Given the description of an element on the screen output the (x, y) to click on. 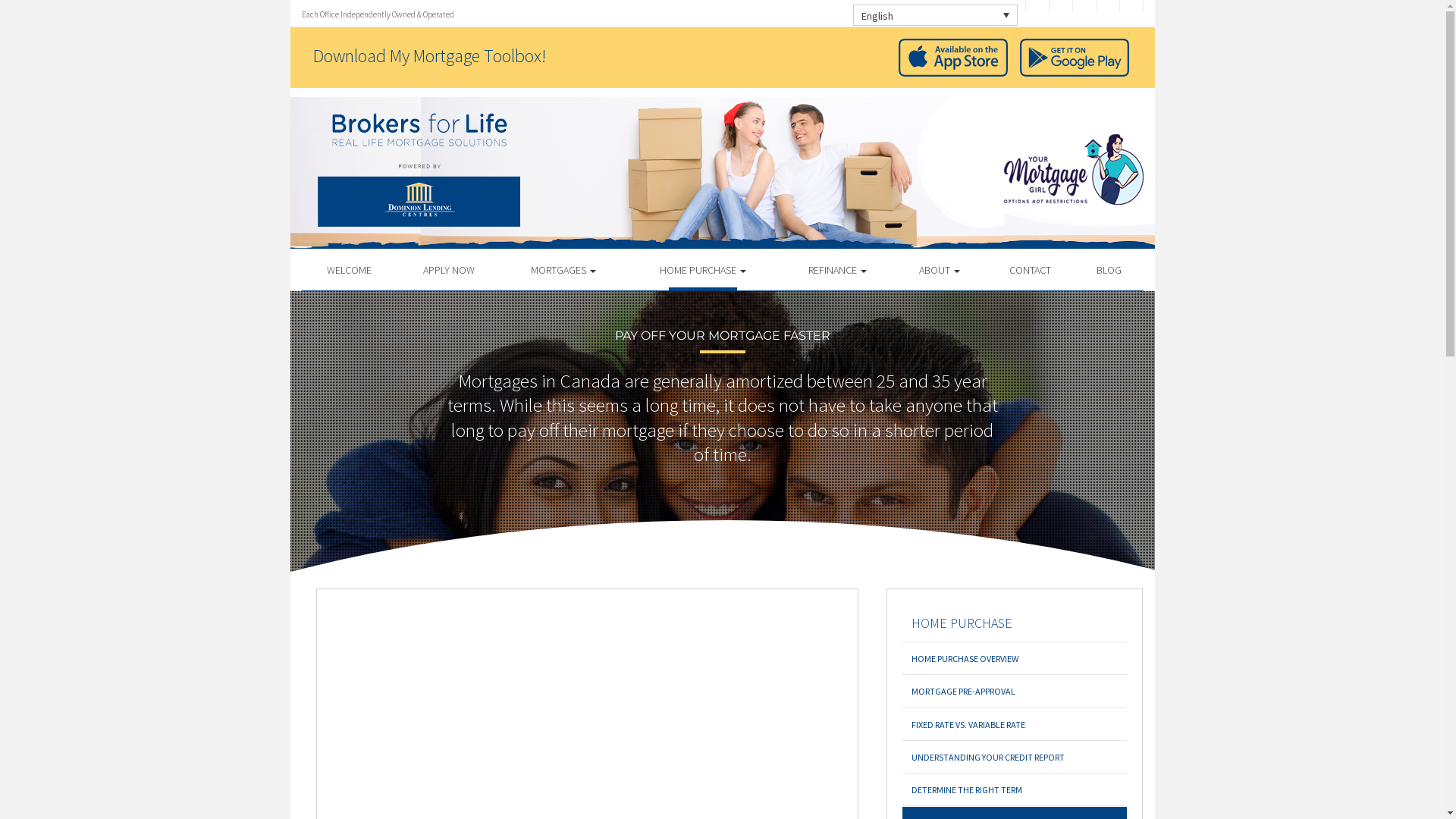
HOME PURCHASE Element type: text (1014, 623)
FIXED RATE VS. VARIABLE RATE Element type: text (1014, 724)
BLOG Element type: text (1108, 269)
UNDERSTANDING YOUR CREDIT REPORT Element type: text (1014, 756)
English Element type: text (934, 14)
REFINANCE Element type: text (837, 269)
CONTACT Element type: text (1029, 269)
APPLY NOW Element type: text (448, 269)
MORTGAGE PRE-APPROVAL Element type: text (1014, 690)
HOME PURCHASE OVERVIEW Element type: text (1014, 658)
DETERMINE THE RIGHT TERM Element type: text (1014, 789)
WELCOME Element type: text (349, 269)
HOME PURCHASE Element type: text (702, 269)
ABOUT Element type: text (939, 269)
MORTGAGES Element type: text (564, 269)
